Given the description of an element on the screen output the (x, y) to click on. 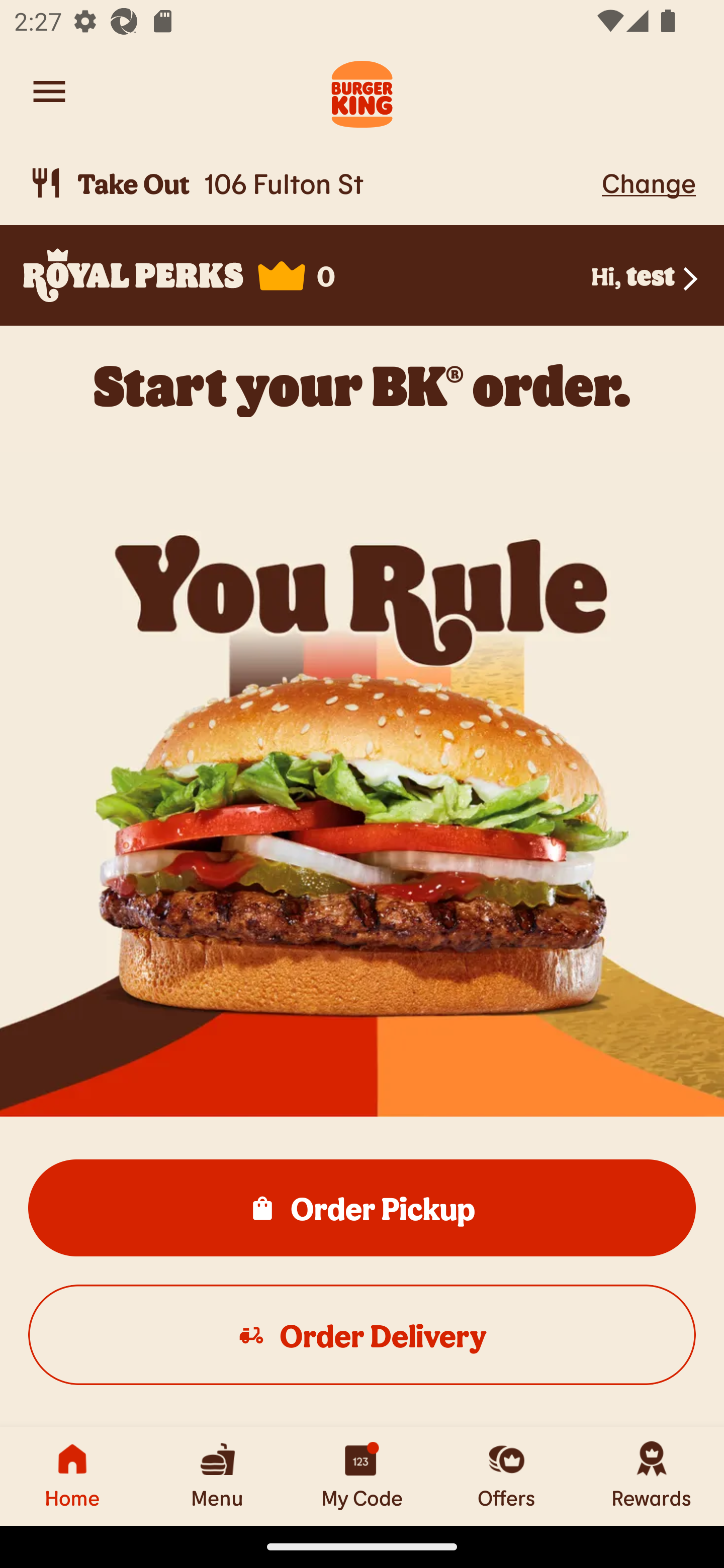
Burger King Logo. Navigate to Home (362, 91)
Navigate to account menu  (49, 91)
Take Out, 106 Fulton St  Take Out 106 Fulton St (311, 183)
Change (648, 182)
Start your BK® order. (361, 385)
, Order Pickup  Order Pickup (361, 1206)
, Order Delivery  Order Delivery (361, 1334)
Home (72, 1475)
Menu (216, 1475)
My Code (361, 1475)
Offers (506, 1475)
Rewards (651, 1475)
